Given the description of an element on the screen output the (x, y) to click on. 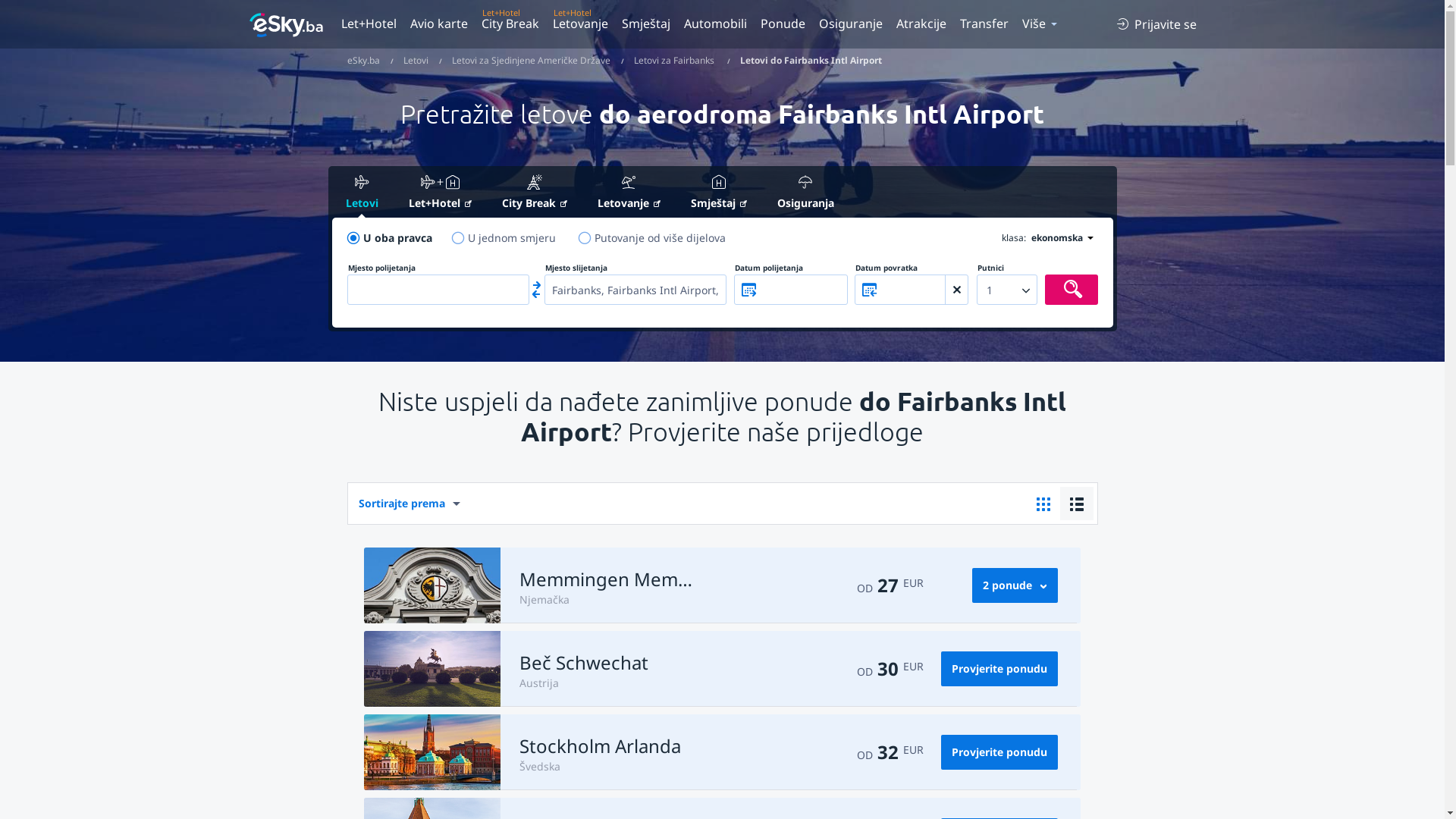
Letovi Element type: text (362, 192)
Let+Hotel Element type: text (439, 193)
Letovi za Fairbanks Element type: text (673, 60)
Letovanje Element type: text (628, 193)
Transfer Element type: text (983, 23)
City Break Element type: text (510, 23)
Let+Hotel Element type: text (371, 23)
Ponude Element type: text (782, 23)
Letovanje Element type: text (580, 23)
Atrakcije Element type: text (920, 23)
City Break Element type: text (534, 193)
Osiguranja Element type: text (804, 192)
Automobili Element type: text (714, 23)
Provjerite ponudu Element type: text (999, 751)
eSky.ba Element type: text (363, 60)
2 ponude Element type: text (1014, 584)
Sortirajte prema Element type: text (411, 503)
Avio karte Element type: text (438, 23)
Osiguranje Element type: text (849, 23)
Provjerite ponudu Element type: text (999, 668)
Letovi Element type: text (415, 60)
